Given the description of an element on the screen output the (x, y) to click on. 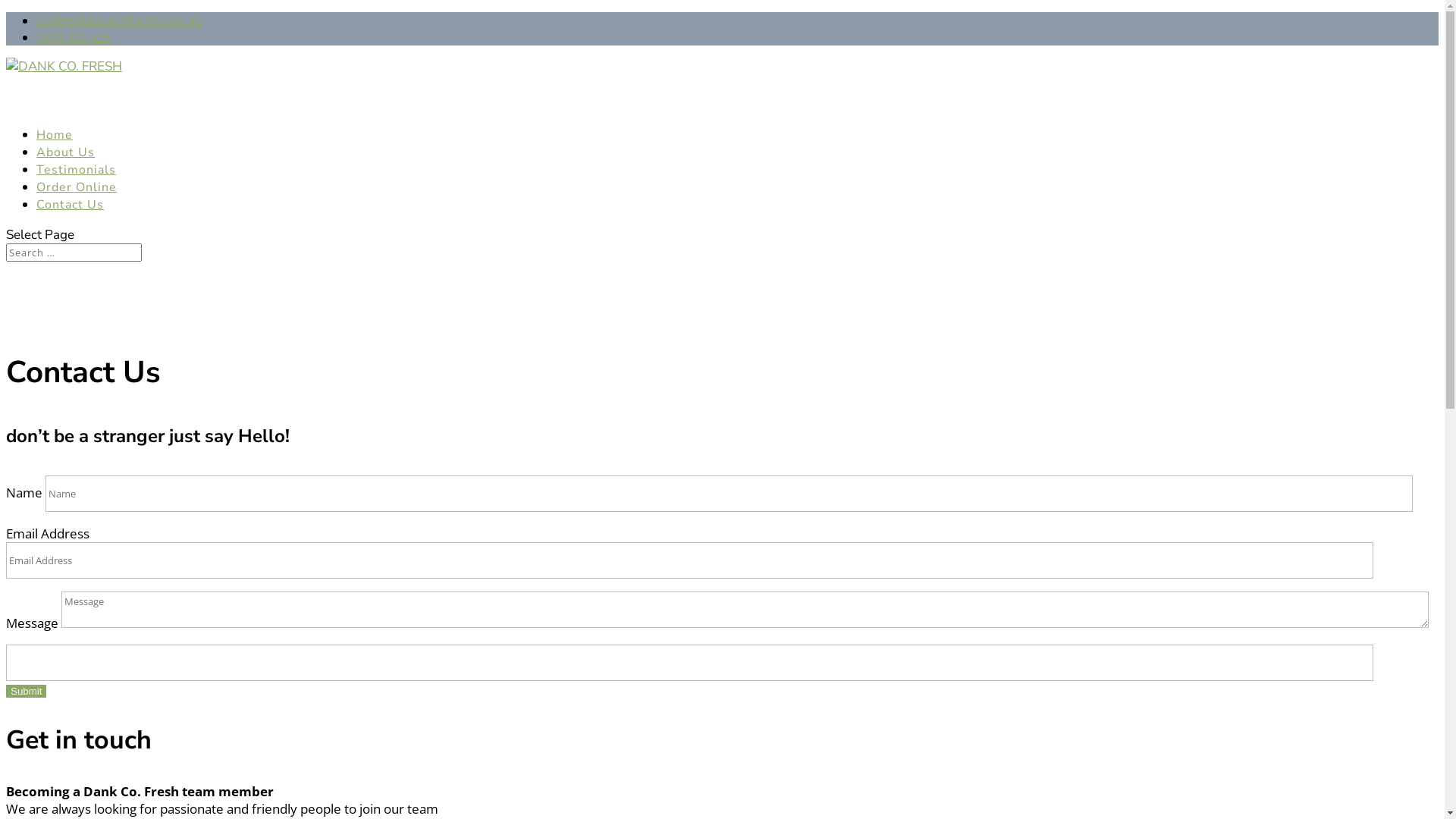
Submit Element type: text (26, 690)
About Us Element type: text (65, 171)
orders@dankcofresh.com.au Element type: text (119, 20)
Home Element type: text (54, 153)
Search for: Element type: hover (73, 252)
Testimonials Element type: text (76, 188)
Order Online Element type: text (76, 205)
Contact Us Element type: text (69, 223)
1800 326 526 Element type: text (73, 36)
